Given the description of an element on the screen output the (x, y) to click on. 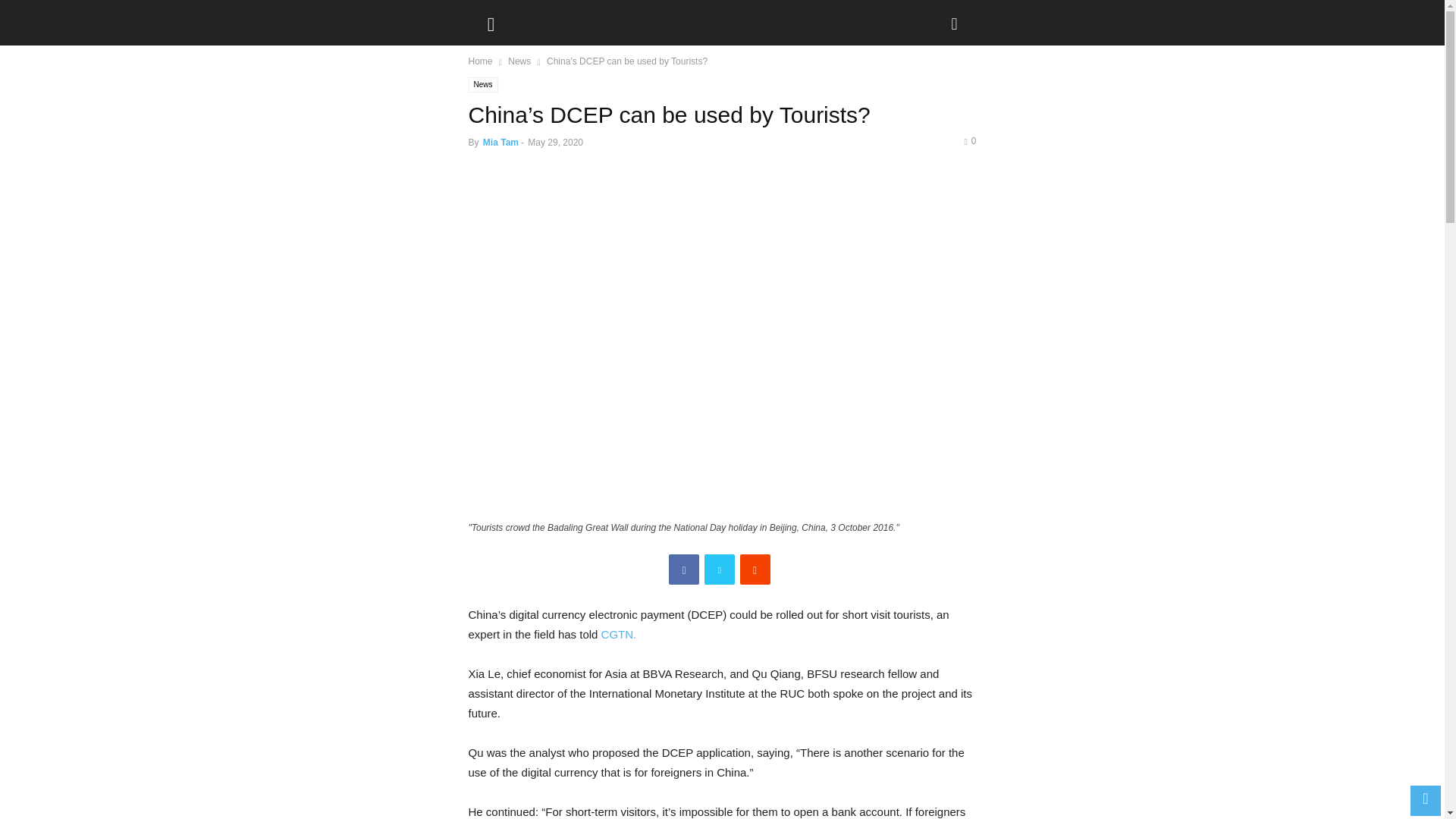
ReddIt (754, 569)
News (482, 84)
View all posts in News (519, 61)
Home (480, 61)
Twitter (719, 569)
0 (969, 140)
Mia Tam (500, 142)
CGTN.  (620, 634)
Facebook (683, 569)
Asia Crypto Today (521, 18)
